Given the description of an element on the screen output the (x, y) to click on. 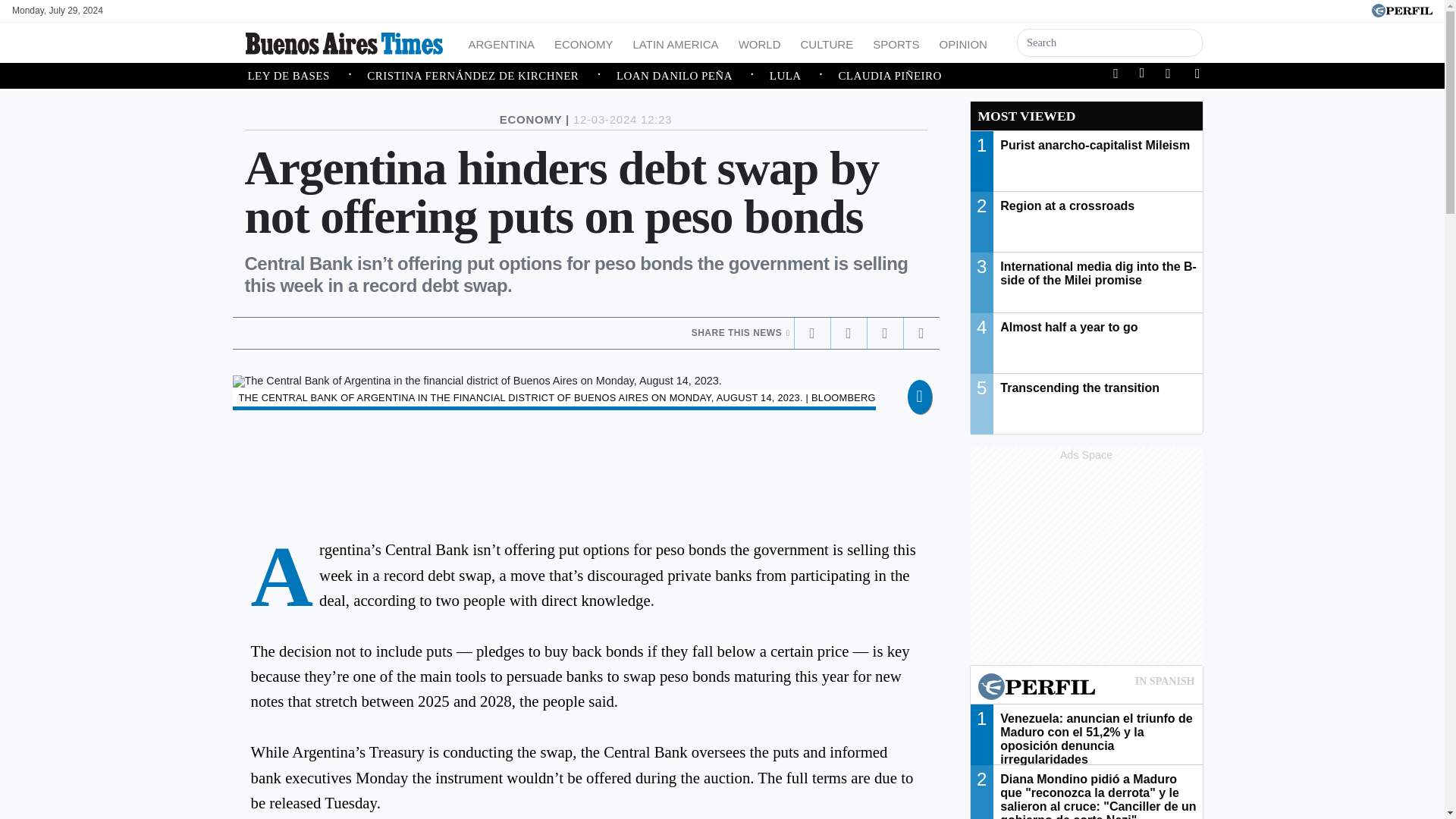
Sports (895, 42)
Culture (826, 42)
LEY DE BASES (306, 75)
ECONOMY (584, 42)
Argentina (502, 42)
Economy (584, 42)
ARGENTINA (502, 42)
CULTURE (826, 42)
WORLD (759, 42)
World (759, 42)
LULA (804, 75)
SPORTS (895, 42)
Latin America (676, 42)
